Given the description of an element on the screen output the (x, y) to click on. 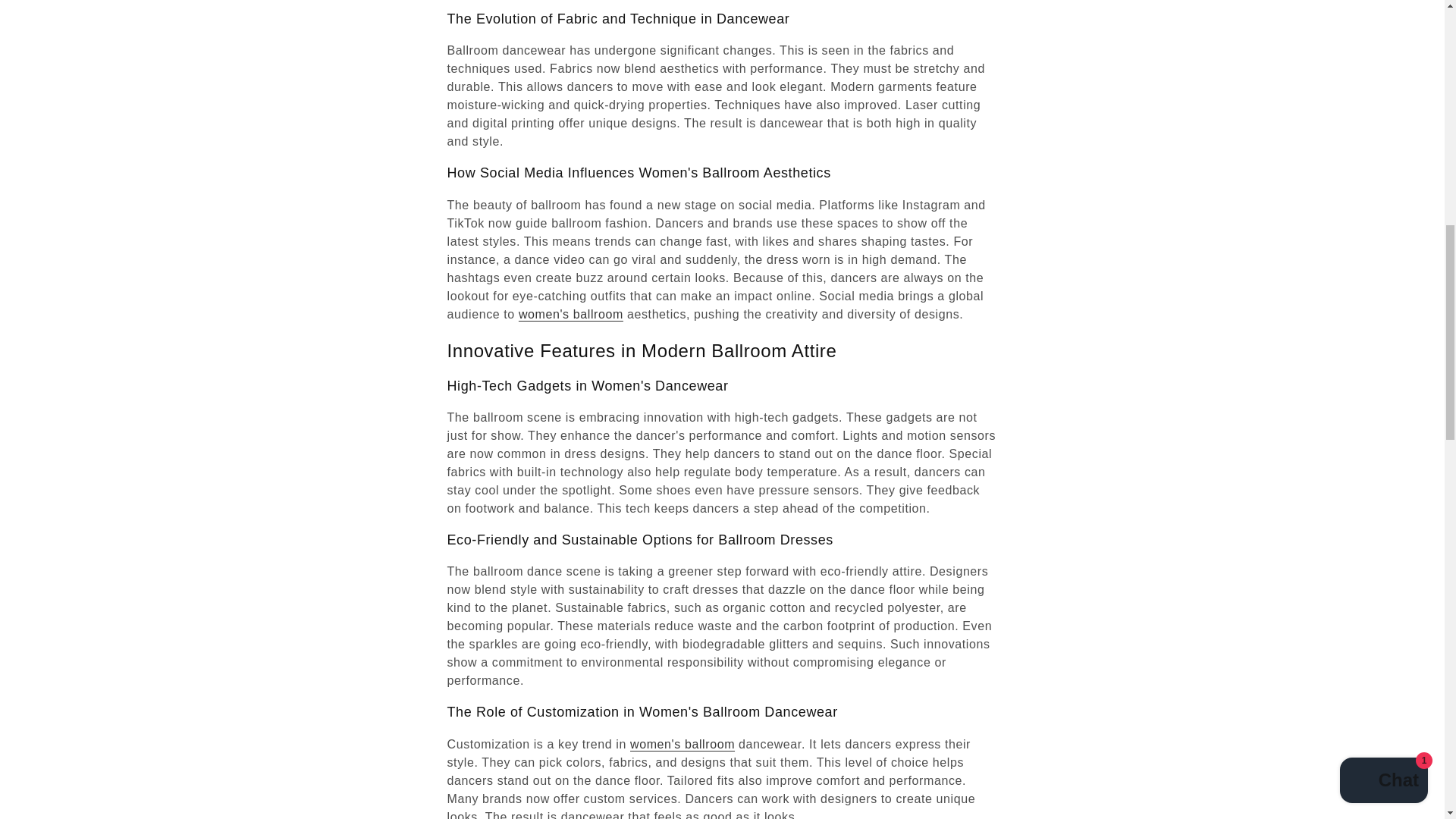
women's ballroom (570, 314)
women's ballroom (682, 744)
